Given the description of an element on the screen output the (x, y) to click on. 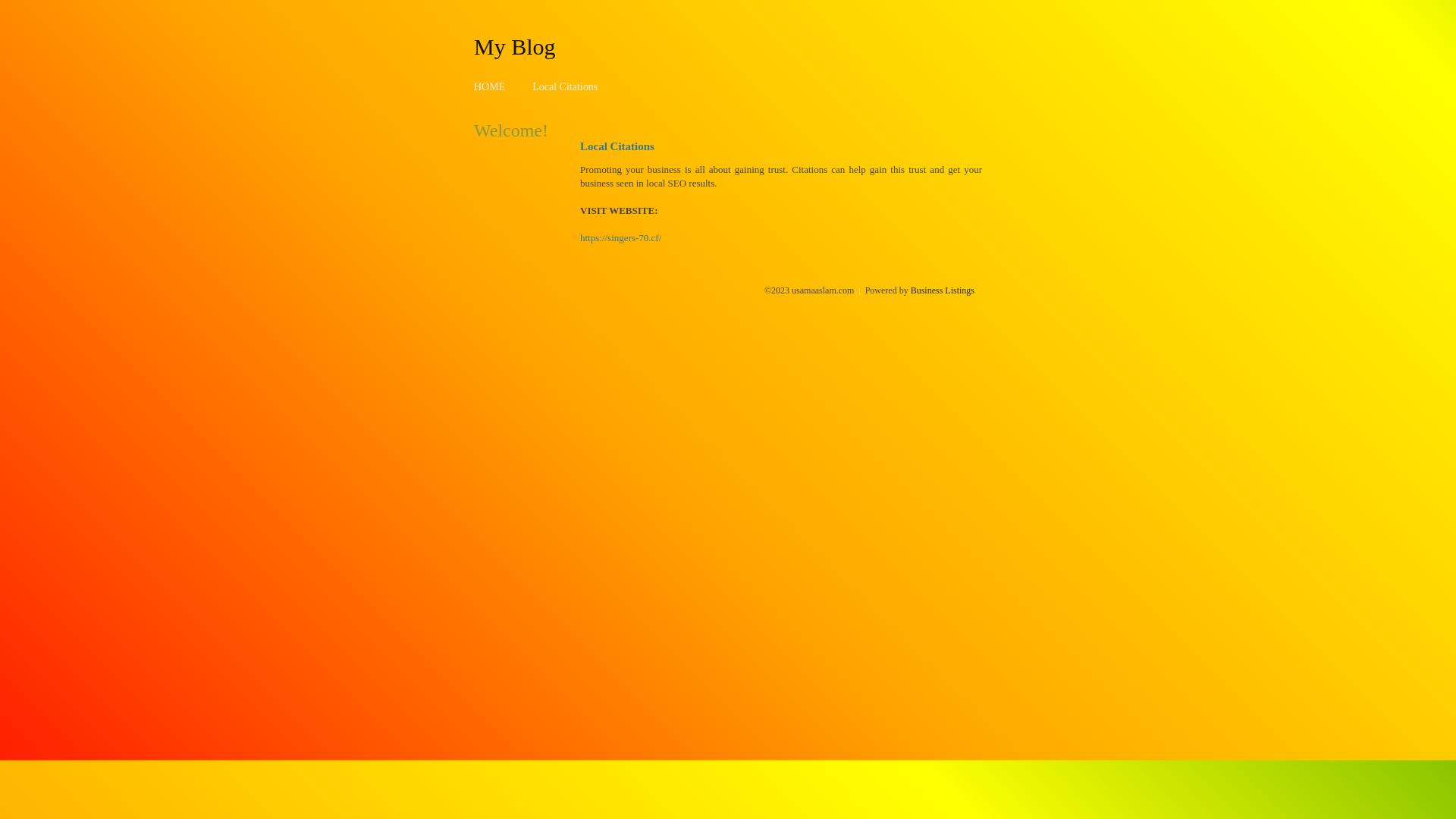
Business Listings Element type: text (942, 290)
My Blog Element type: text (514, 46)
https://singers-70.cf/ Element type: text (620, 237)
HOME Element type: text (489, 86)
Local Citations Element type: text (564, 86)
